Given the description of an element on the screen output the (x, y) to click on. 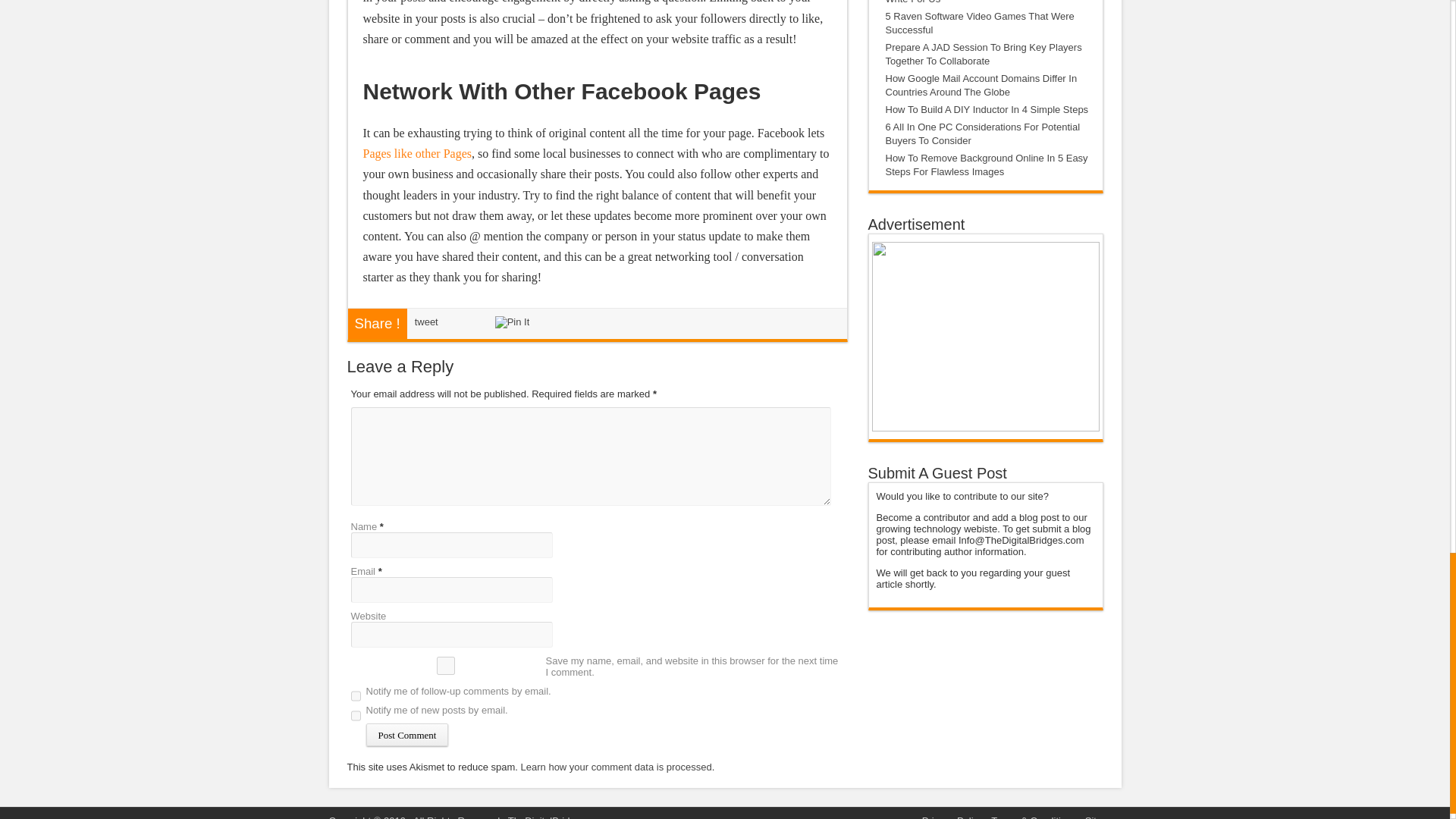
yes (445, 665)
tweet (426, 320)
Pin It (512, 321)
Post Comment (406, 734)
Post Comment (406, 734)
Pages like other Pages (416, 153)
Learn how your comment data is processed (616, 767)
